Given the description of an element on the screen output the (x, y) to click on. 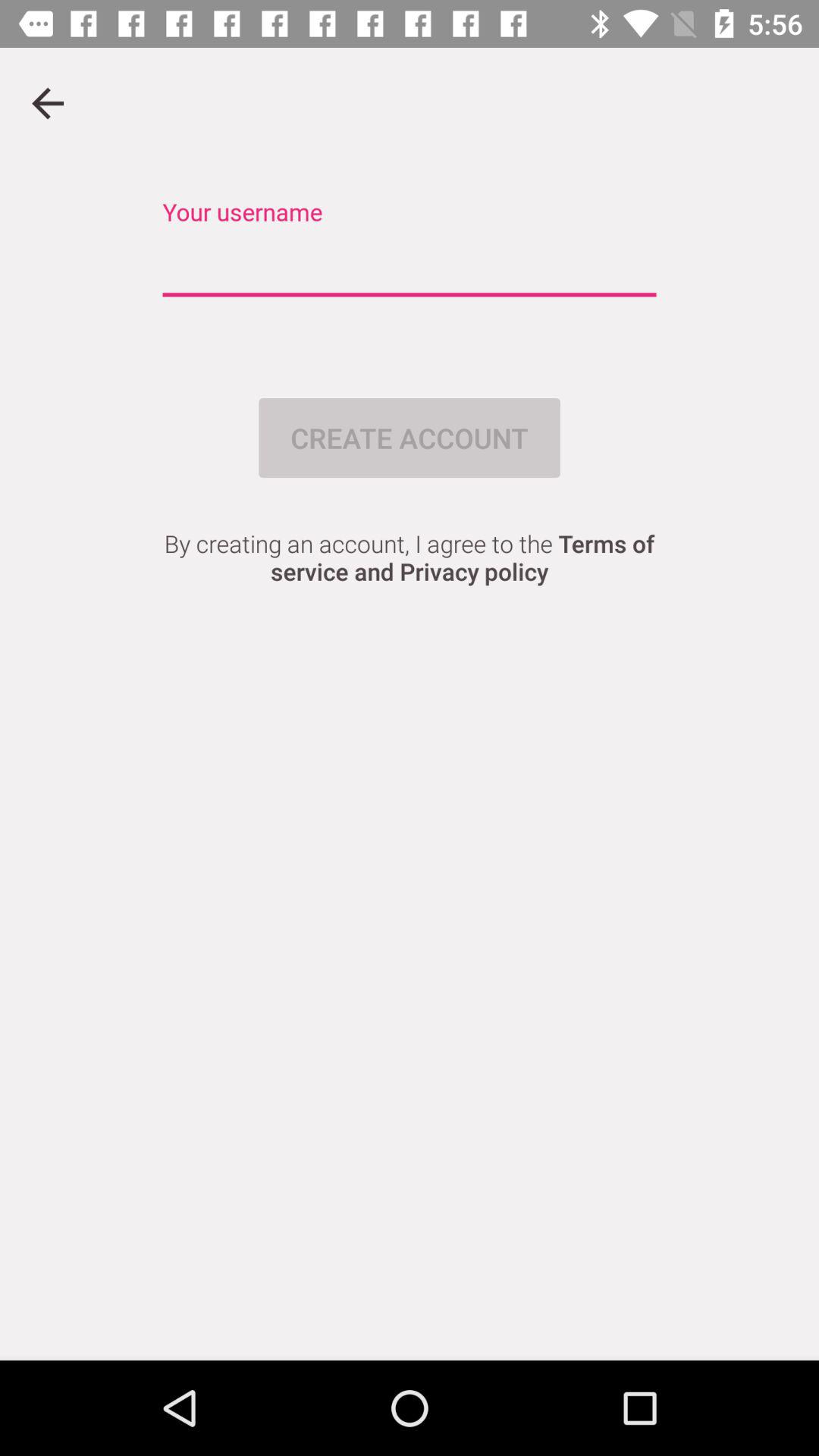
go back (47, 103)
